Given the description of an element on the screen output the (x, y) to click on. 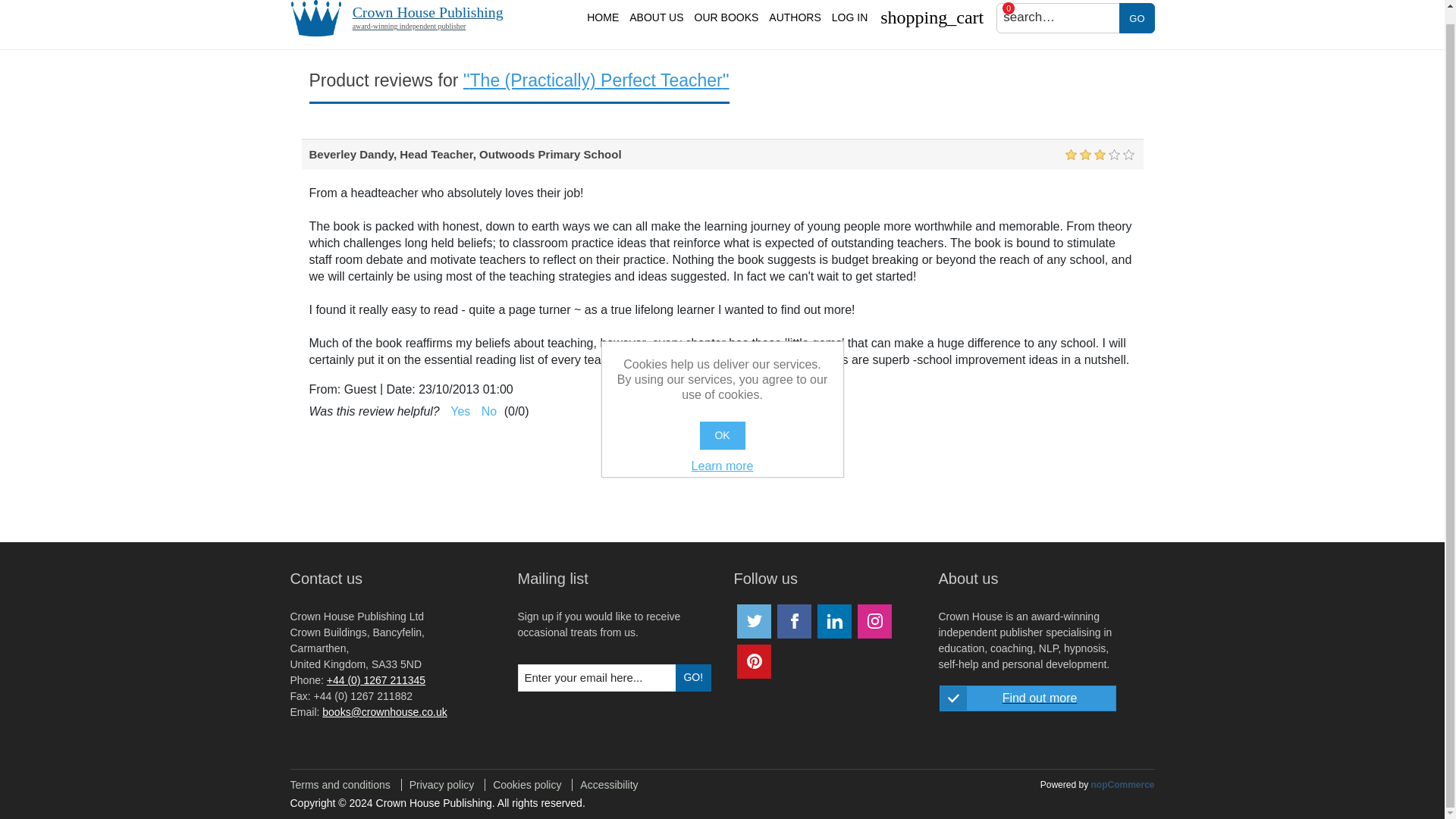
AUTHORS (793, 16)
HOME (402, 18)
GO (602, 16)
OUR BOOKS (1136, 18)
ABOUT US (726, 16)
LOG IN (656, 16)
